Given the description of an element on the screen output the (x, y) to click on. 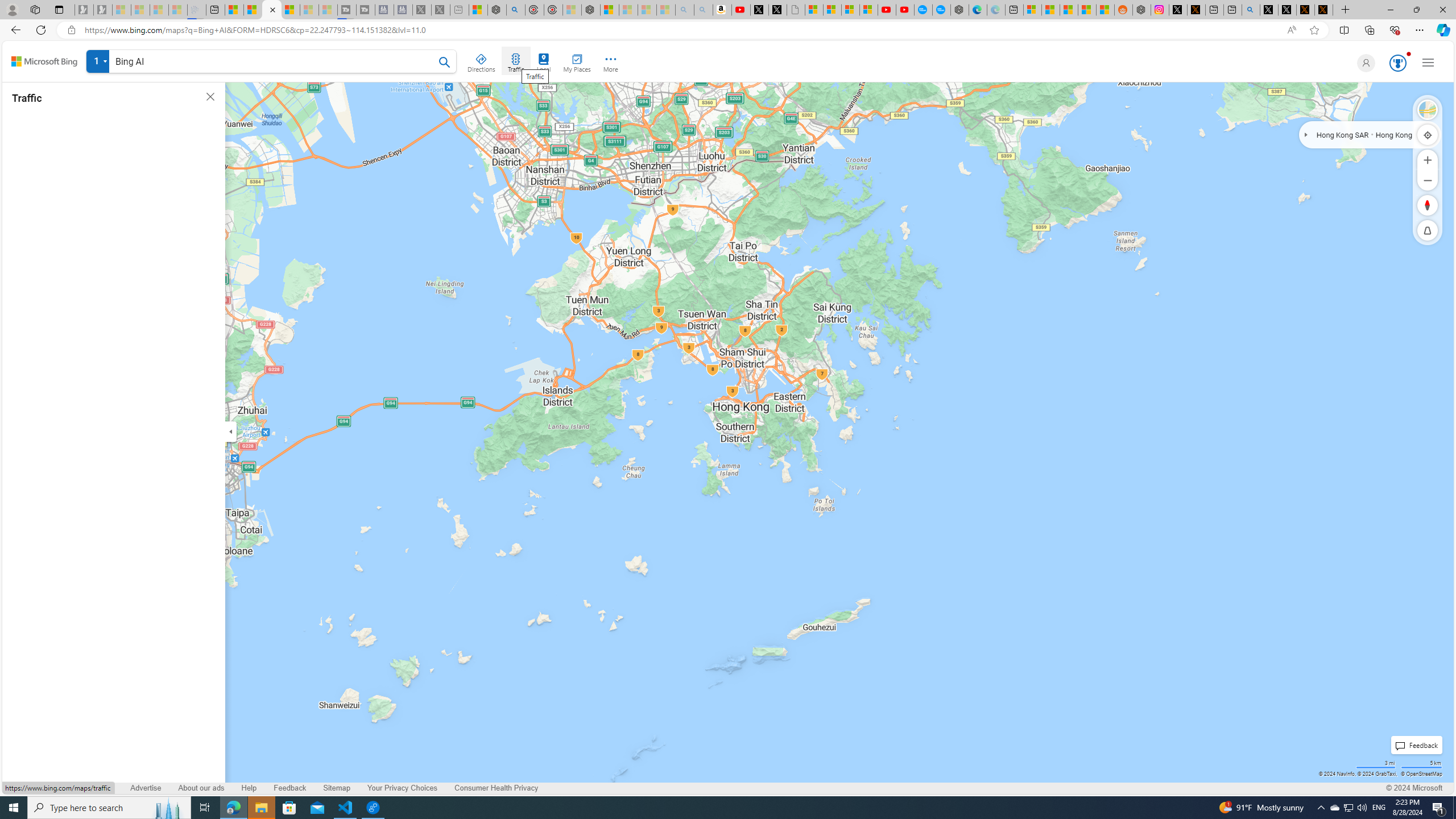
Shanghai, China hourly forecast | Microsoft Weather (1069, 9)
About our ads (200, 787)
Road (1427, 109)
Sitemap (336, 787)
Animation (1408, 53)
My Places (576, 60)
